Given the description of an element on the screen output the (x, y) to click on. 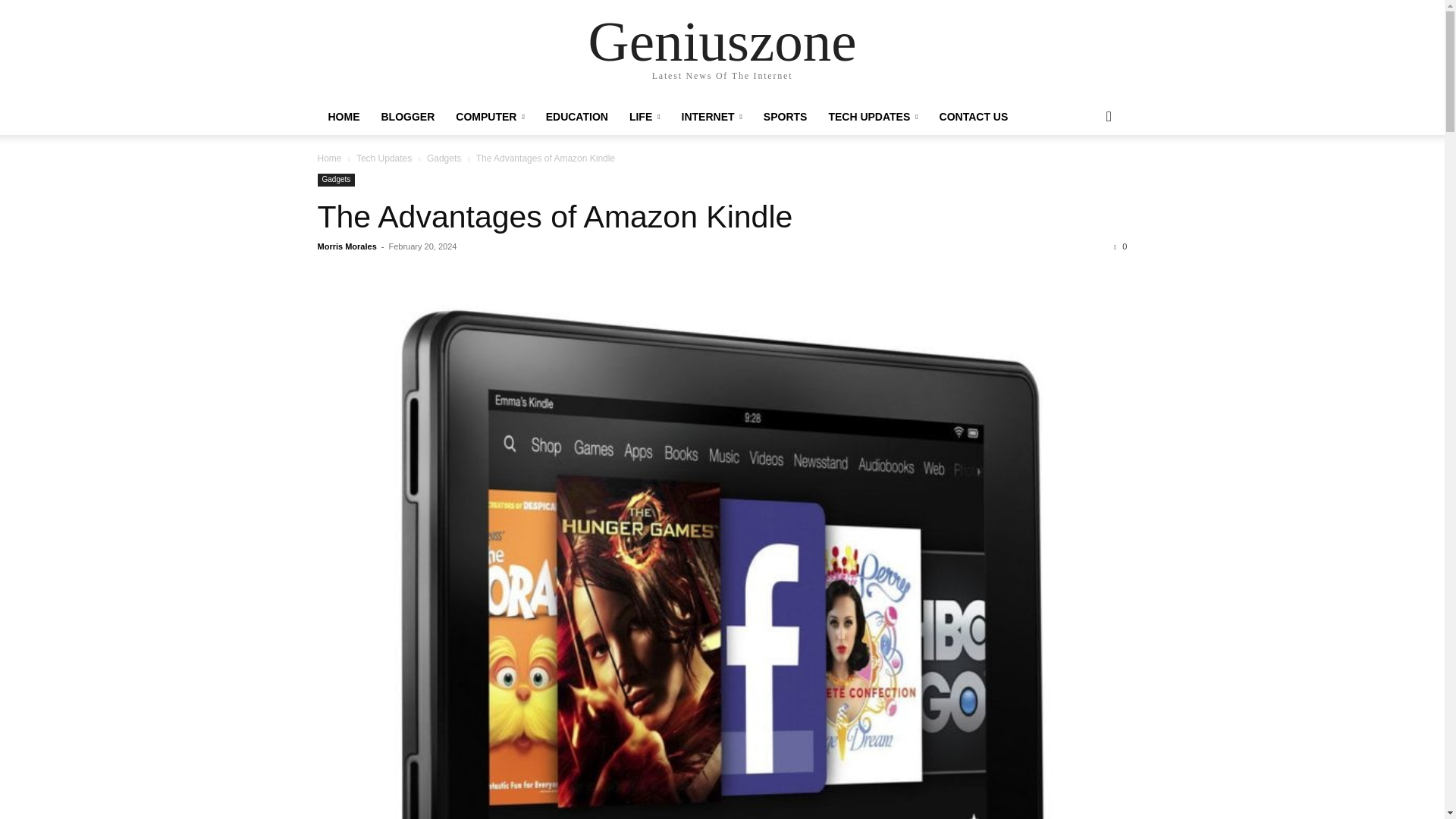
View all posts in Tech Updates (384, 158)
The Advantages of Amazon Kindle (554, 216)
Geniuszone (722, 41)
View all posts in Gadgets (443, 158)
COMPUTER (489, 116)
HOME (343, 116)
BLOGGER (407, 116)
